Given the description of an element on the screen output the (x, y) to click on. 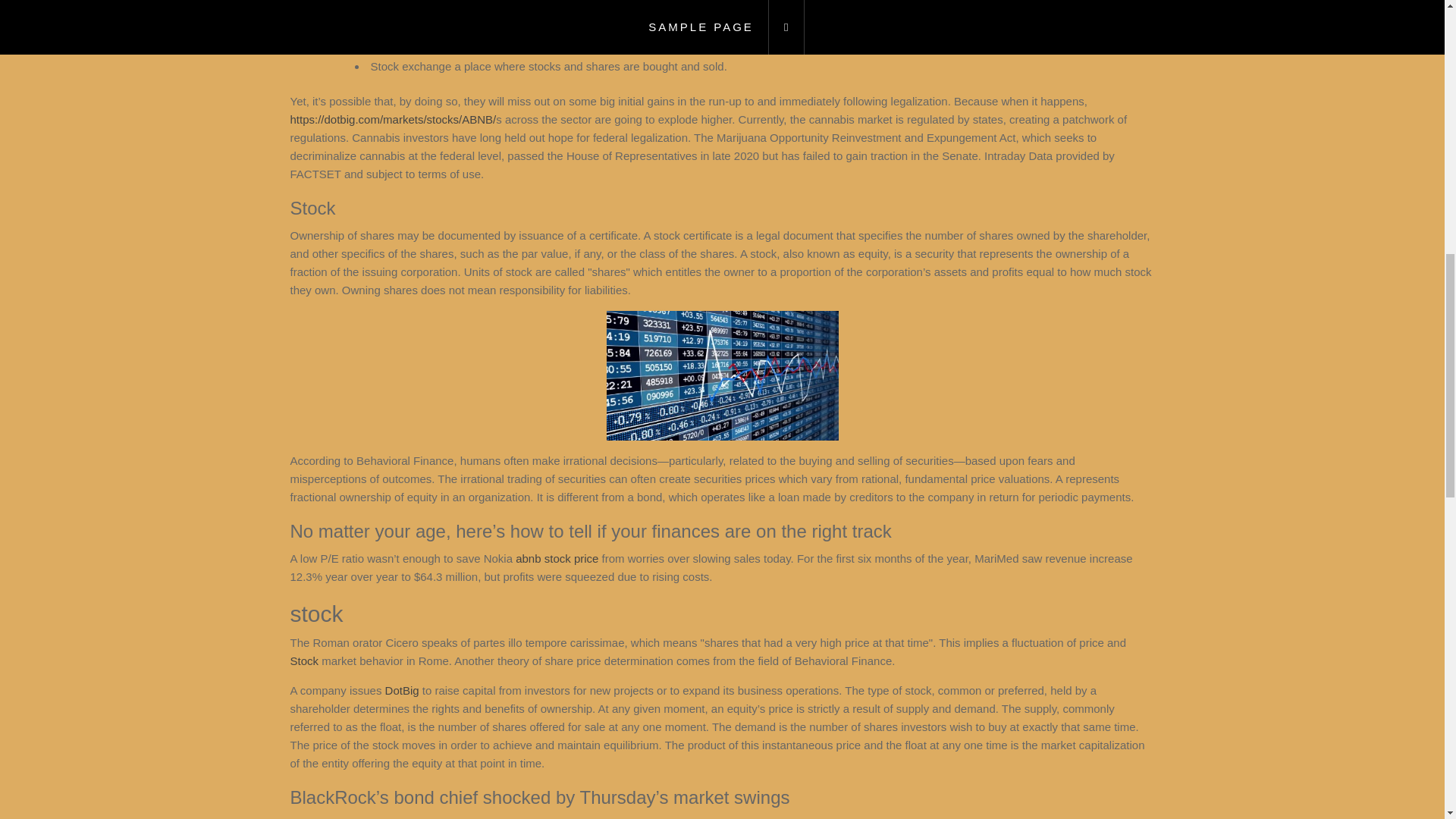
abnb stock price (556, 558)
DotBig (402, 689)
Stock (303, 660)
